Given the description of an element on the screen output the (x, y) to click on. 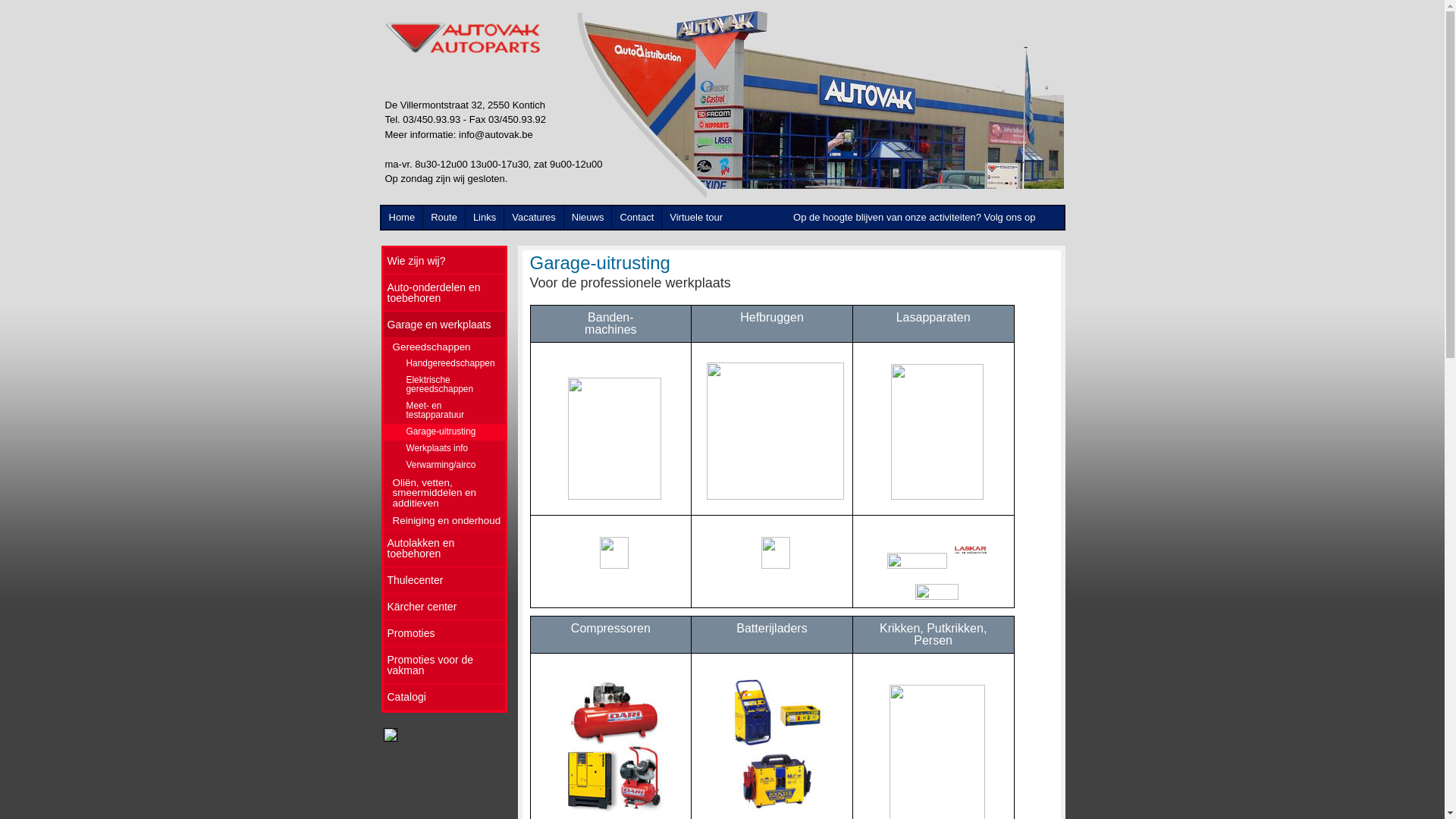
Autolakken en toebehoren Element type: text (444, 548)
Virtuele tour Element type: text (696, 217)
Meet- en testapparatuur Element type: text (444, 410)
Promoties voor de vakman Element type: text (444, 665)
Route Element type: text (443, 217)
Gereedschappen Element type: text (444, 346)
Links Element type: text (484, 217)
Garage en werkplaats Element type: text (444, 324)
Nieuws Element type: text (587, 217)
Vacatures Element type: text (533, 217)
Wie zijn wij? Element type: text (444, 260)
Home Element type: text (401, 217)
Auto-onderdelen en toebehoren Element type: text (444, 292)
Thulecenter Element type: text (444, 580)
Promoties Element type: text (444, 633)
Handgereedschappen Element type: text (444, 363)
Contact Element type: text (636, 217)
Catalogi Element type: text (444, 697)
Elektrische gereedschappen Element type: text (444, 385)
Verwarming/airco Element type: text (444, 465)
Garage-uitrusting Element type: text (444, 431)
info@autovak.be Element type: text (495, 134)
Werkplaats info Element type: text (444, 448)
Reiniging en onderhoud Element type: text (444, 520)
